Given the description of an element on the screen output the (x, y) to click on. 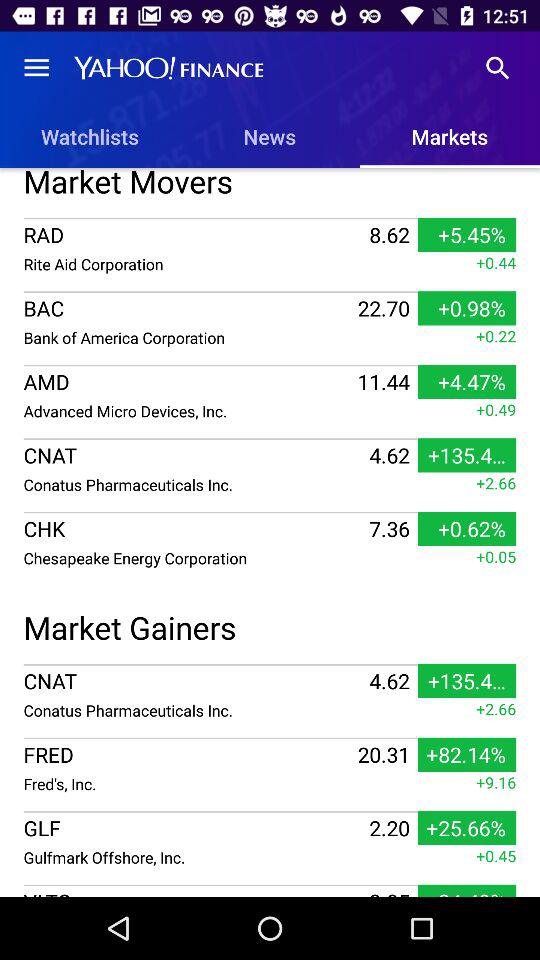
select the icon below 20.31 (187, 783)
